Given the description of an element on the screen output the (x, y) to click on. 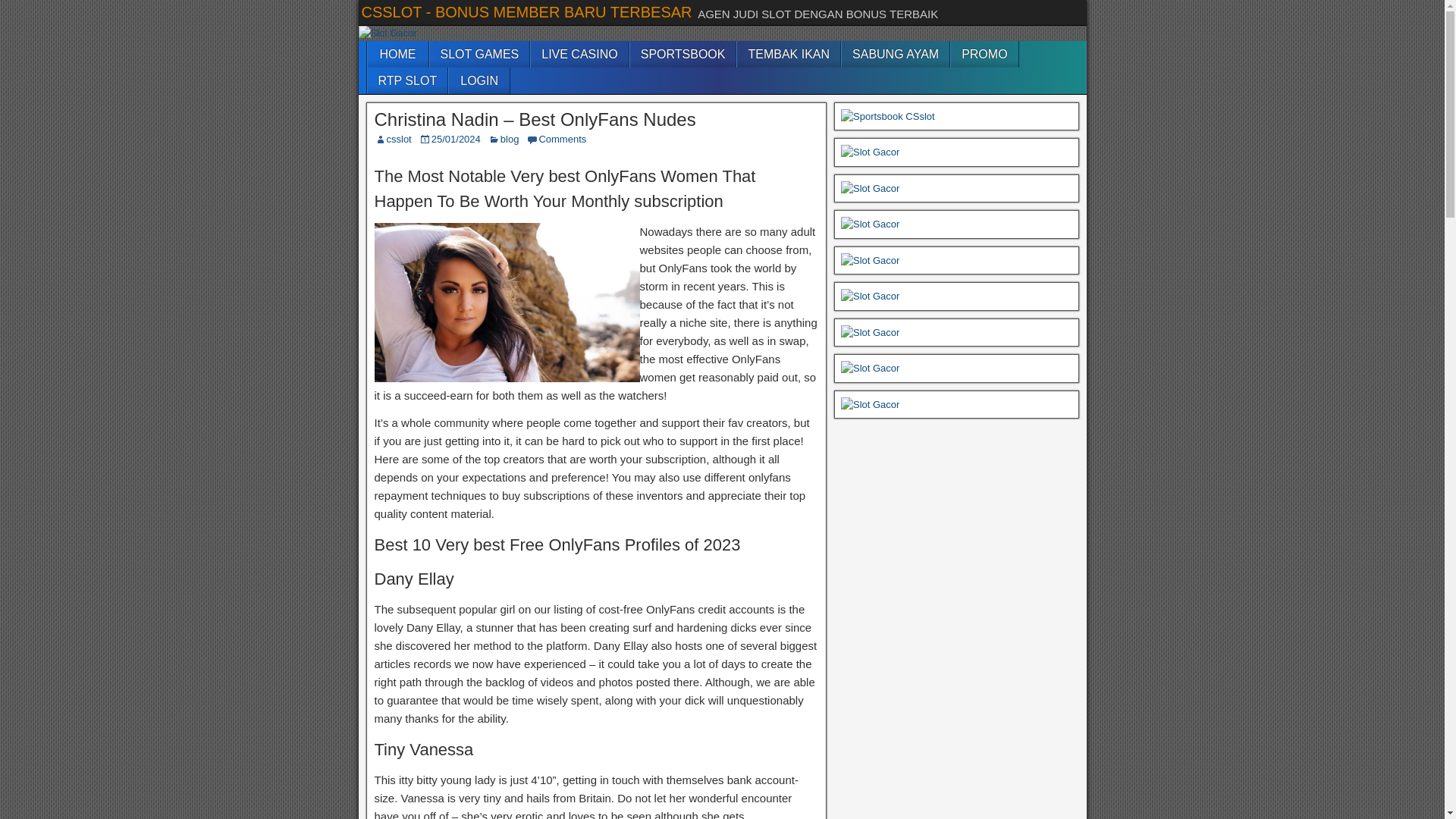
SLOT GAMES (479, 53)
CSSLOT - BONUS MEMBER BARU TERBESAR (526, 12)
LOGIN (478, 80)
Slot Gacor (387, 32)
Slot Gacor (870, 332)
blog (509, 138)
Slot Gacor (870, 224)
RTP SLOT (406, 80)
SABUNG AYAM (895, 53)
Sportsbook CSslot (887, 116)
